Given the description of an element on the screen output the (x, y) to click on. 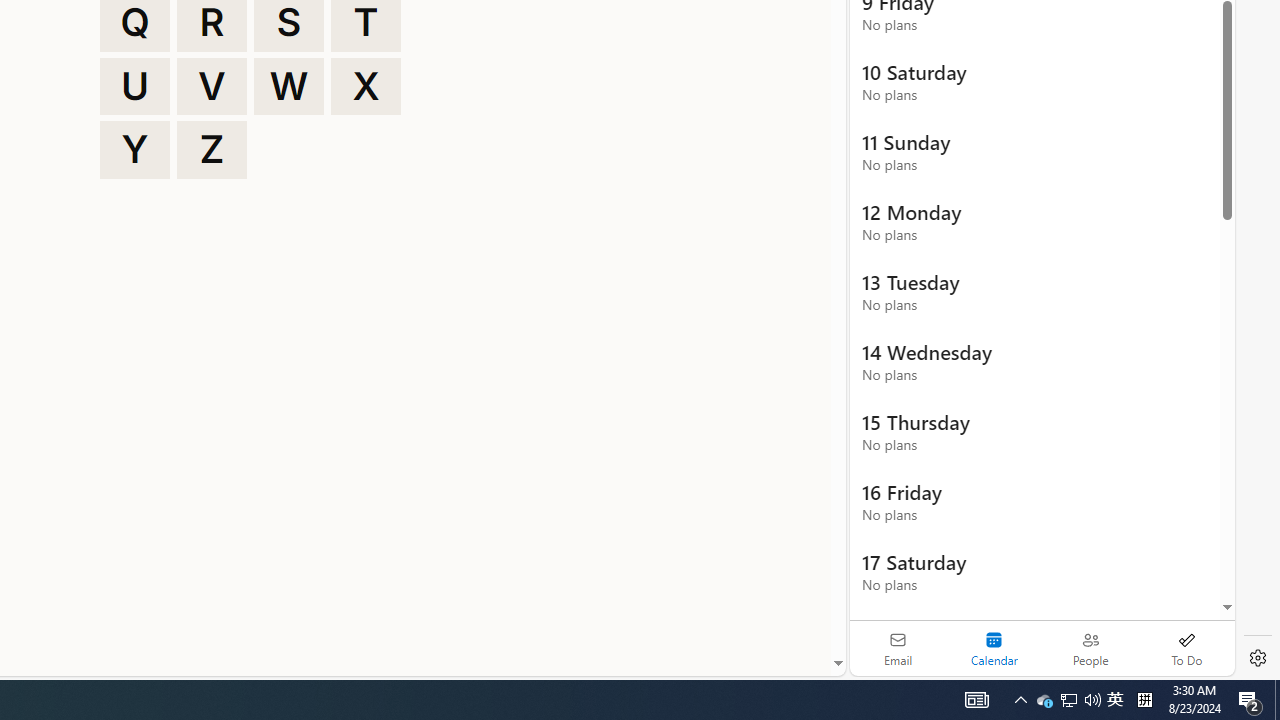
V (212, 85)
U (134, 85)
Y (134, 149)
Selected calendar module. Date today is 22 (994, 648)
People (1090, 648)
W (289, 85)
X (365, 85)
Z (212, 149)
V (212, 85)
